Given the description of an element on the screen output the (x, y) to click on. 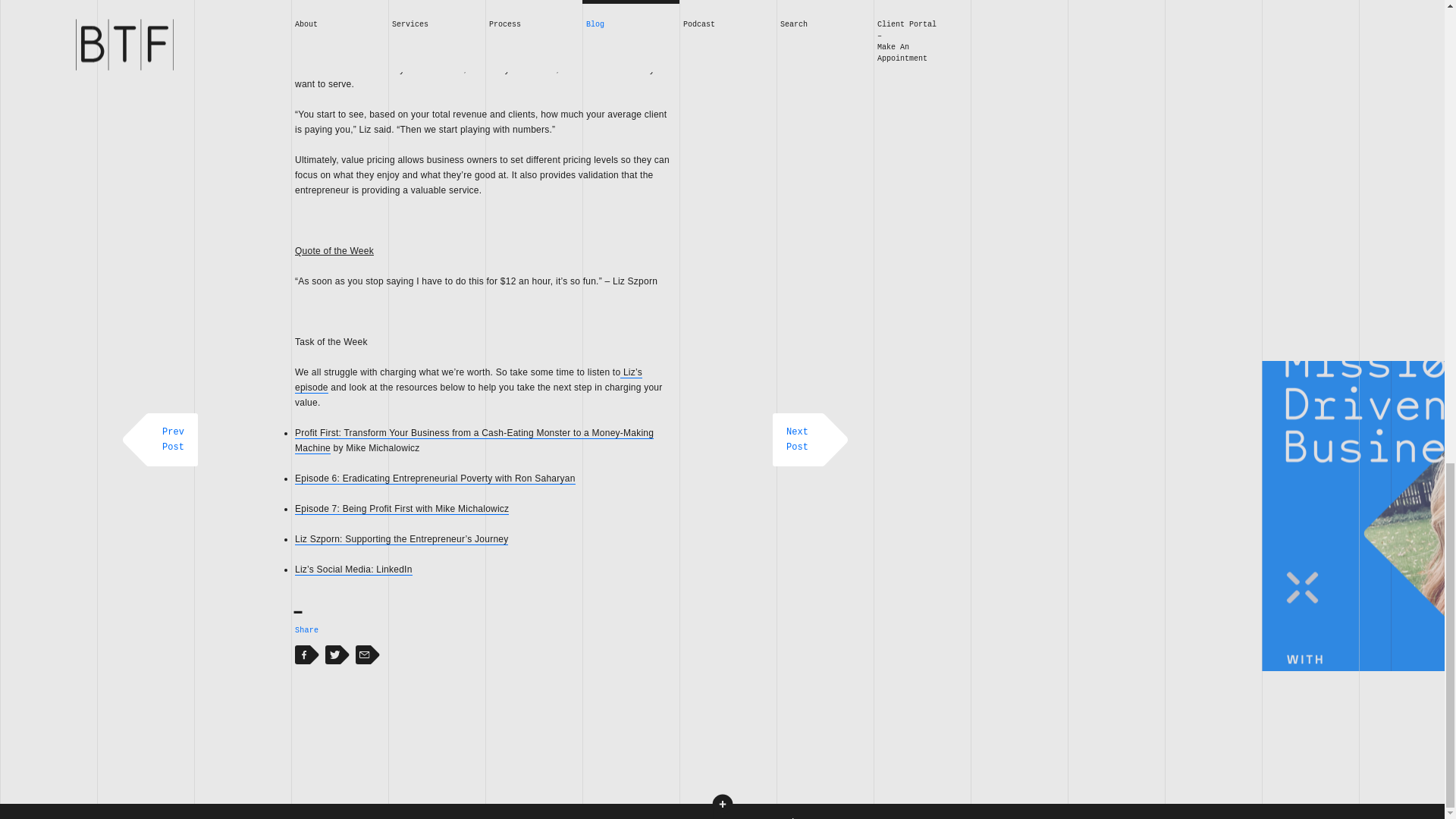
Episode 7: Being Profit First with Mike Michalowicz (401, 509)
Email (363, 659)
Twitter (302, 659)
